Given the description of an element on the screen output the (x, y) to click on. 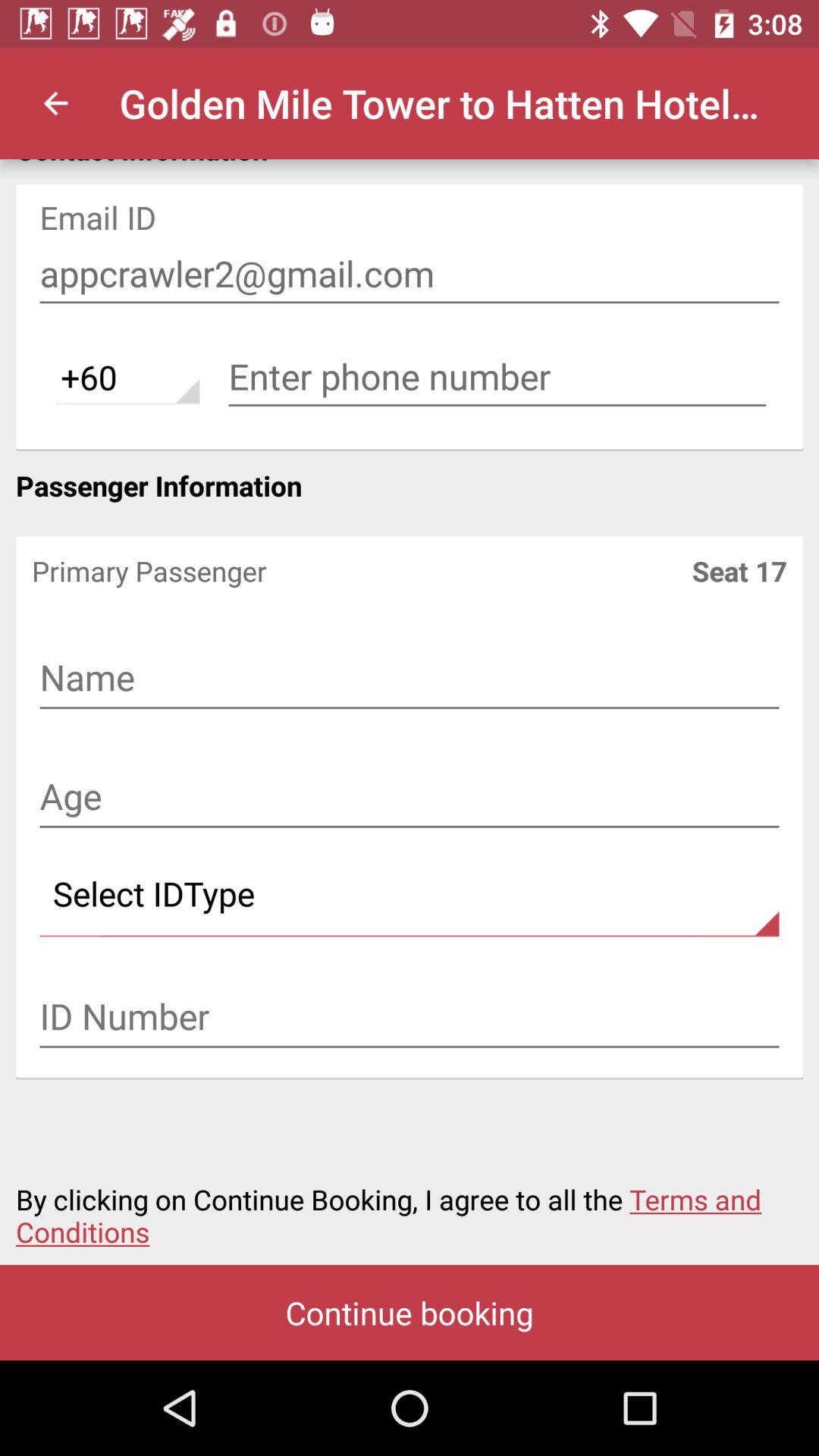
turn on the icon above contact information icon (55, 103)
